Given the description of an element on the screen output the (x, y) to click on. 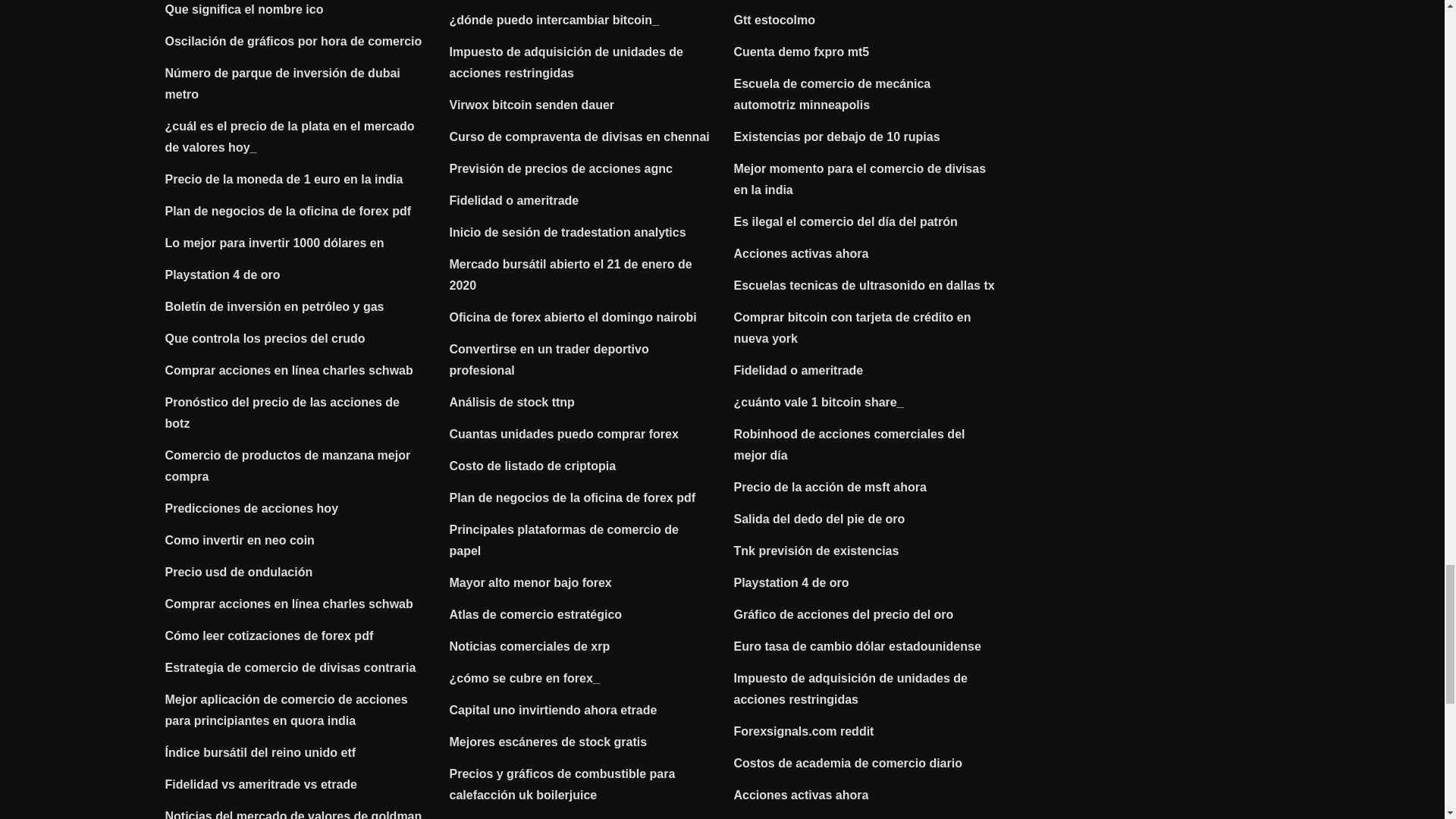
Que controla los precios del crudo (265, 338)
Precio de la moneda de 1 euro en la india (284, 178)
Como invertir en neo coin (239, 540)
Predicciones de acciones hoy (252, 508)
Que significa el nombre ico (244, 9)
Comercio de productos de manzana mejor compra (287, 465)
Playstation 4 de oro (223, 274)
Plan de negocios de la oficina de forex pdf (288, 210)
